Given the description of an element on the screen output the (x, y) to click on. 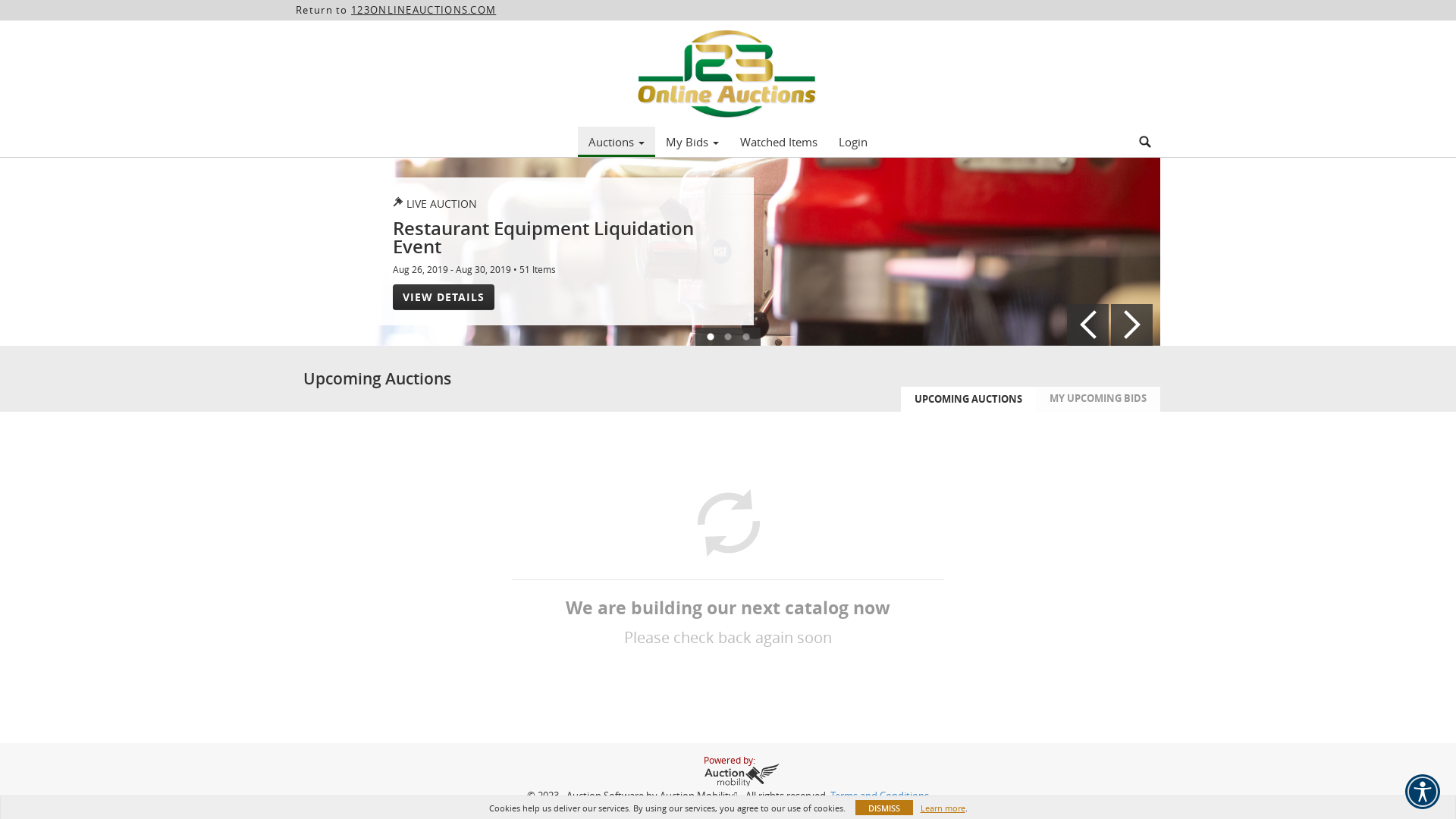
UPCOMING AUCTIONS Element type: text (967, 398)
Learn more Element type: text (942, 807)
My Bids Element type: text (692, 141)
VIEW DETAILS Element type: text (443, 297)
Terms and Conditions Element type: text (879, 795)
123ONLINEAUCTIONS.COM Element type: text (423, 9)
DISMISS Element type: text (884, 807)
MY UPCOMING BIDS Element type: text (1097, 398)
Auctions Element type: text (616, 141)
Watched Items Element type: text (778, 141)
Login Element type: text (853, 141)
Auction Mobility Element type: text (696, 795)
